Given the description of an element on the screen output the (x, y) to click on. 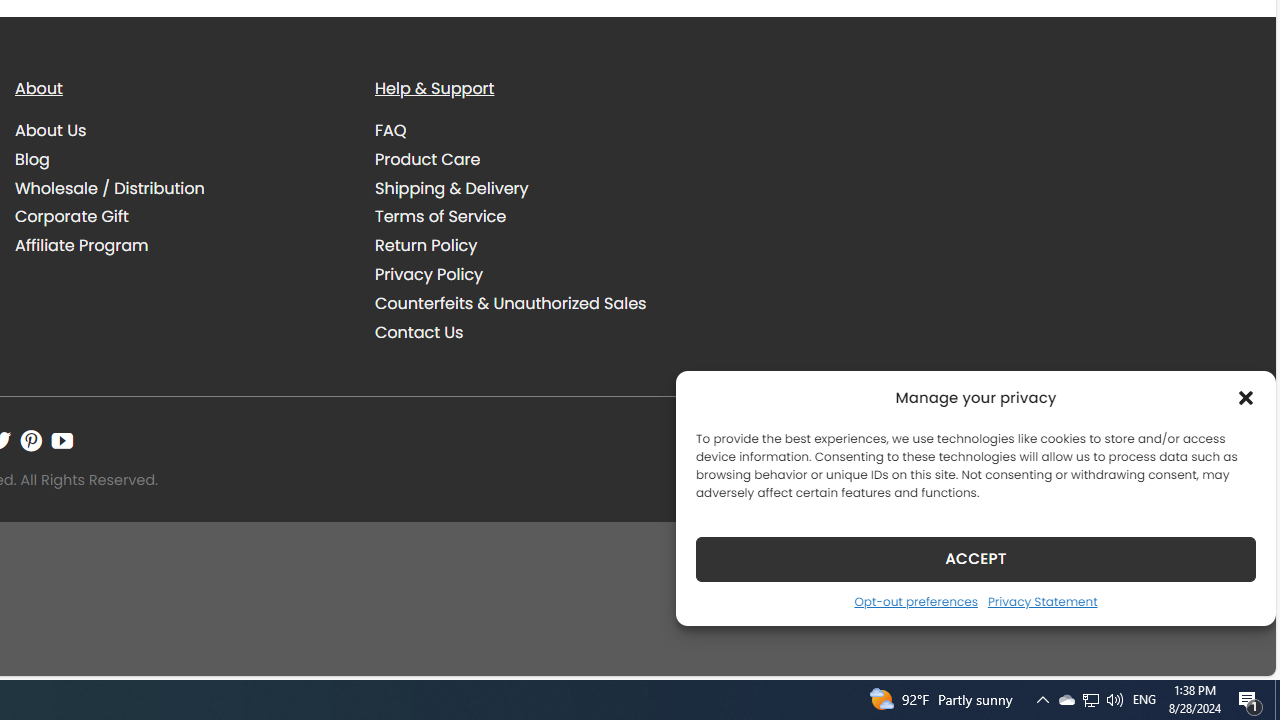
Return Policy (426, 245)
Return Policy (540, 246)
Blog (180, 159)
